Given the description of an element on the screen output the (x, y) to click on. 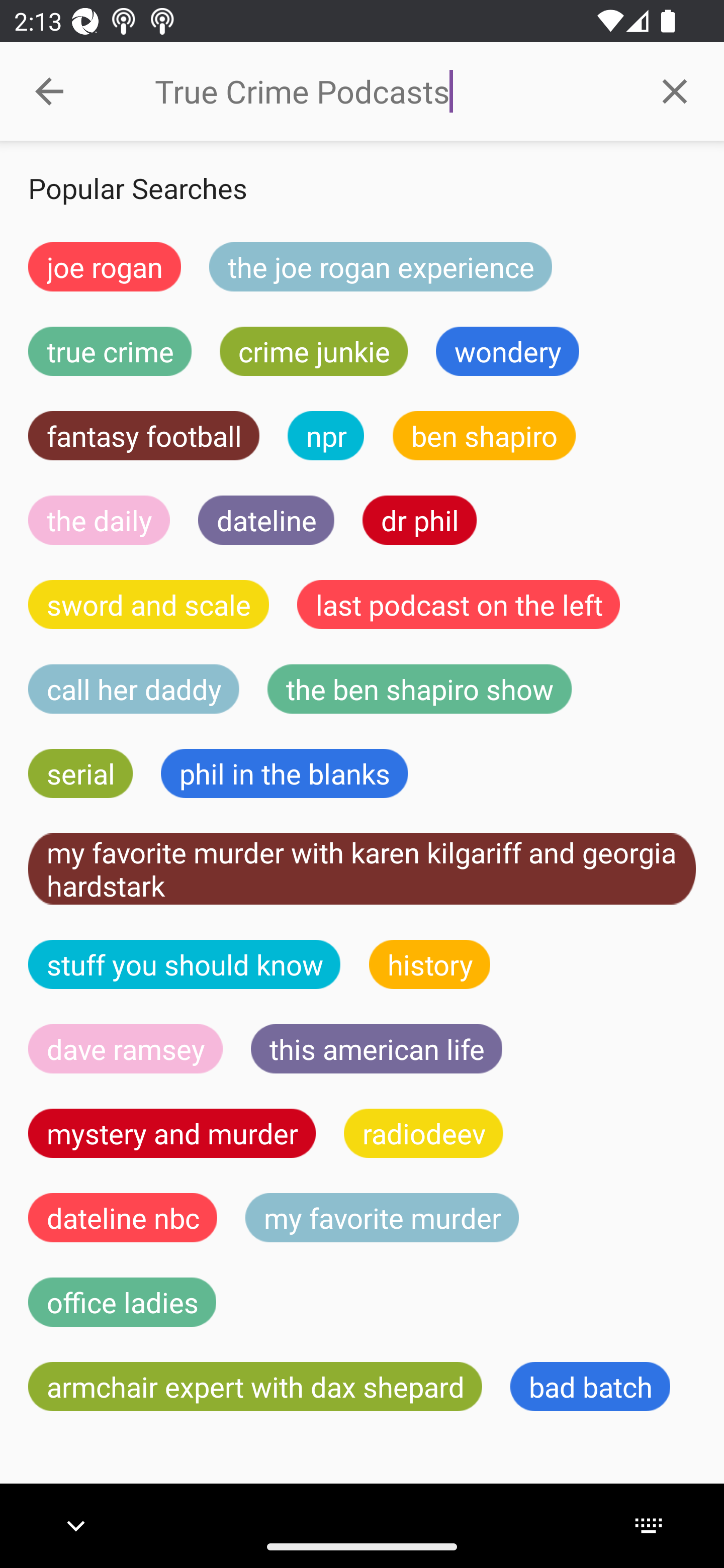
Collapse (49, 91)
Clear query (674, 90)
True Crime Podcasts (389, 91)
joe rogan (104, 266)
the joe rogan experience (380, 266)
true crime (109, 351)
crime junkie (313, 351)
wondery (507, 351)
fantasy football (143, 435)
npr (325, 435)
ben shapiro (483, 435)
the daily (99, 519)
dateline (266, 519)
dr phil (419, 519)
sword and scale (148, 604)
last podcast on the left (458, 604)
call her daddy (133, 688)
the ben shapiro show (419, 688)
serial (80, 773)
phil in the blanks (283, 773)
stuff you should know (184, 964)
history (429, 964)
dave ramsey (125, 1048)
this american life (376, 1048)
mystery and murder (171, 1132)
radiodeev (423, 1132)
dateline nbc (122, 1217)
my favorite murder (382, 1217)
office ladies (122, 1301)
armchair expert with dax shepard (255, 1386)
bad batch (590, 1386)
